Given the description of an element on the screen output the (x, y) to click on. 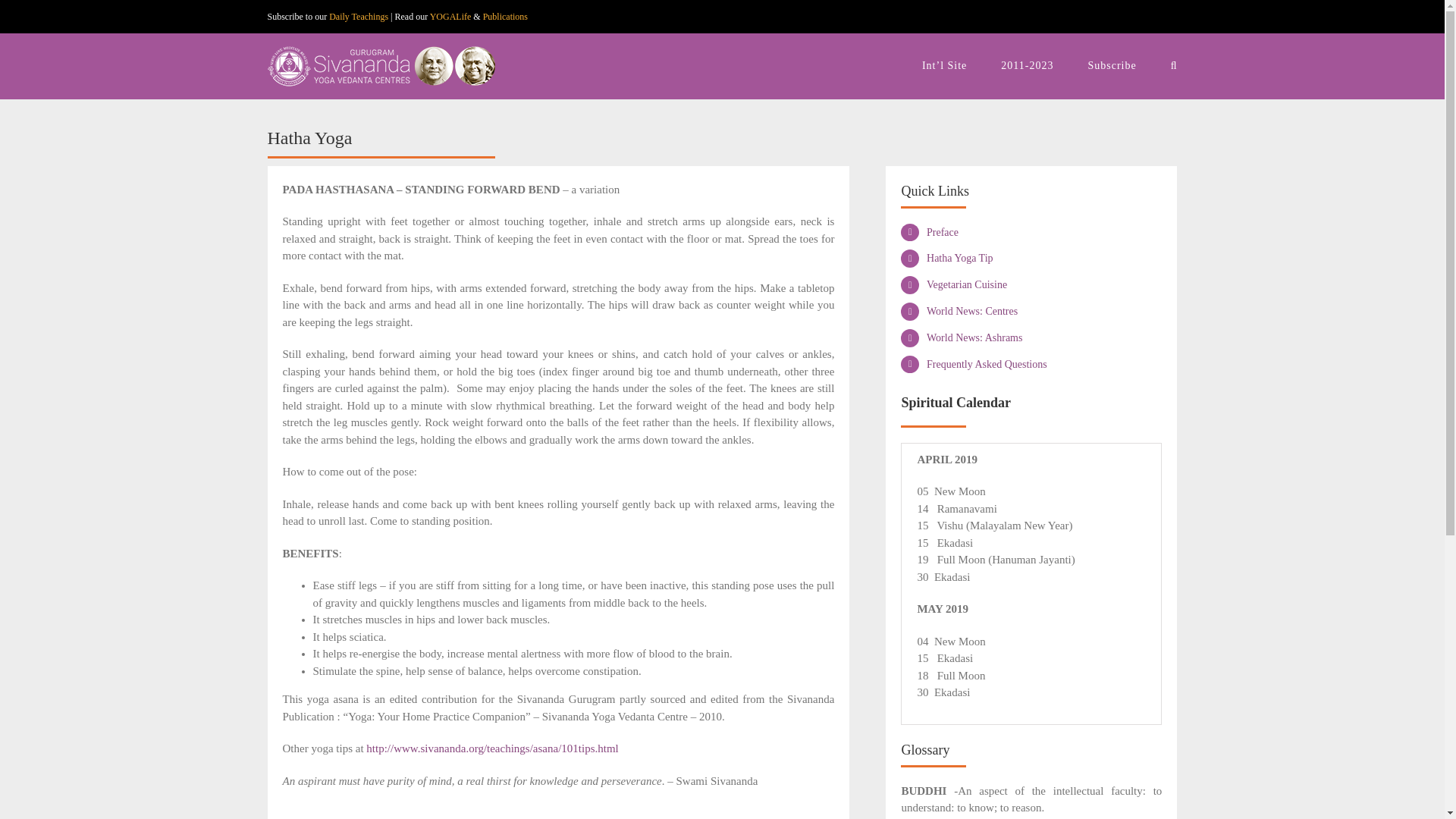
Publications (505, 16)
Daily Teachings (358, 16)
YOGALife (450, 16)
